Given the description of an element on the screen output the (x, y) to click on. 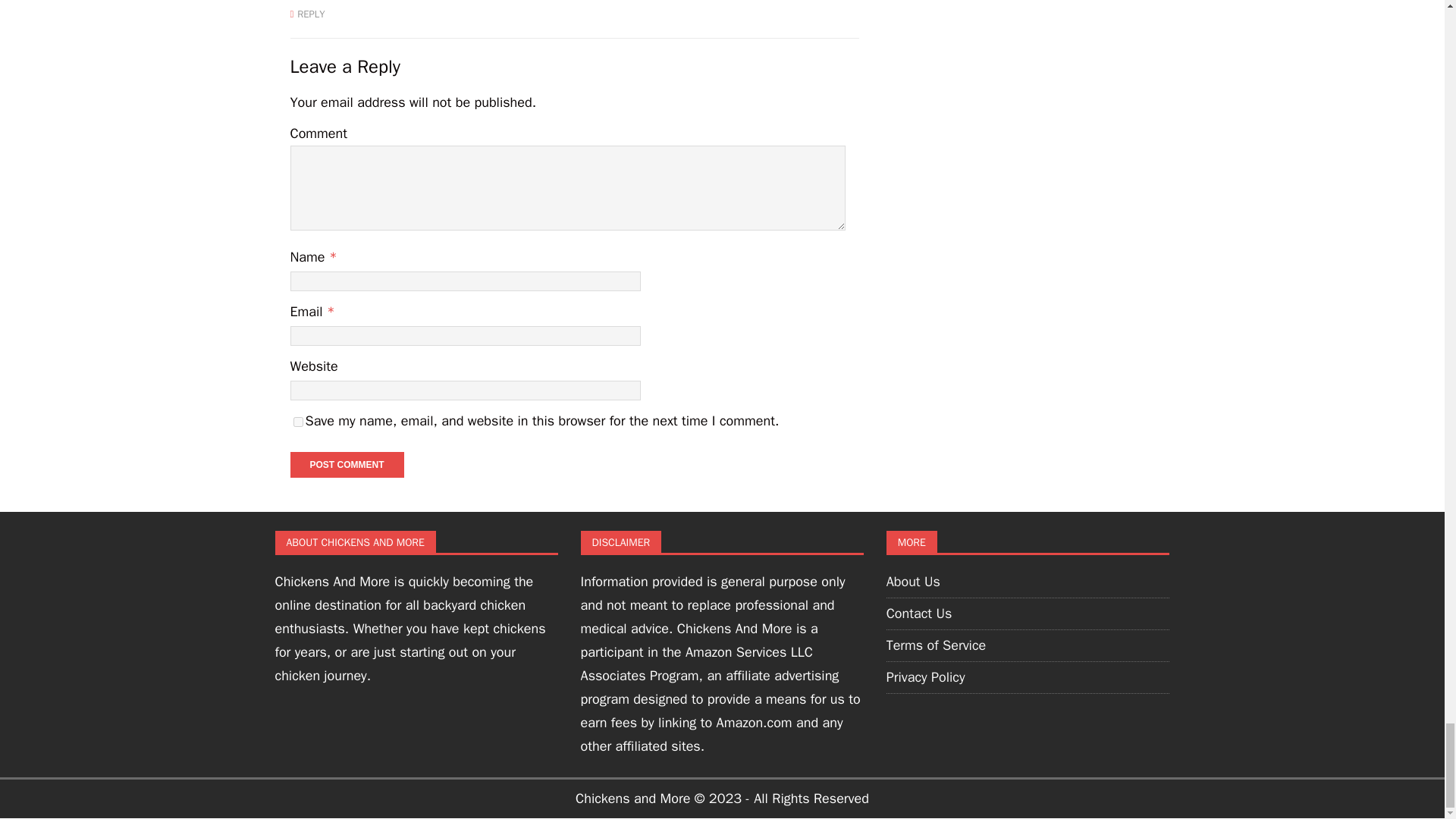
Post Comment (346, 464)
yes (297, 421)
